Given the description of an element on the screen output the (x, y) to click on. 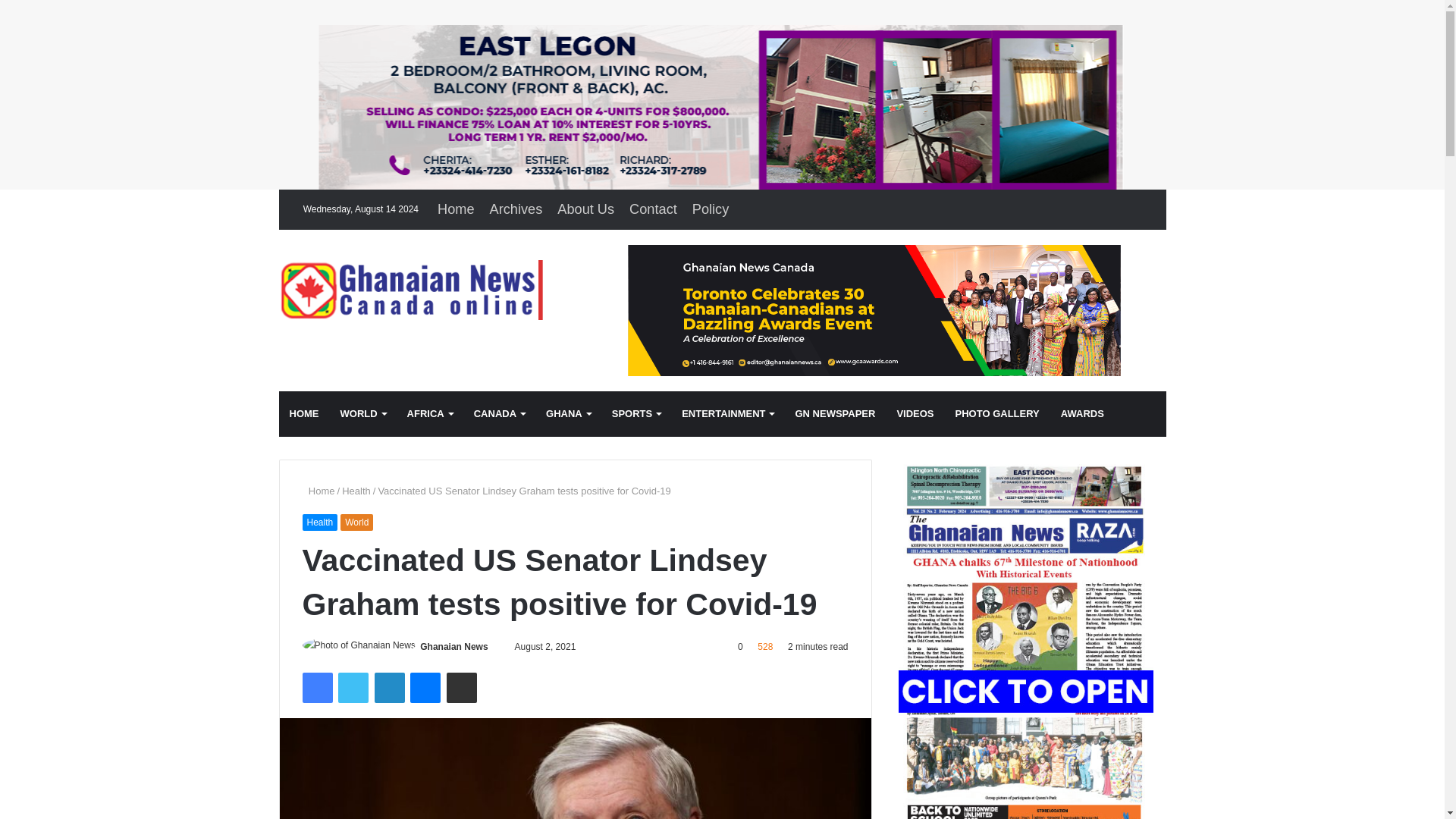
Facebook (316, 687)
About Us (585, 209)
PHOTO GALLERY (996, 413)
VIDEOS (914, 413)
HOME (304, 413)
WORLD (362, 413)
SPORTS (636, 413)
Ghanaian News (419, 290)
GHANA (568, 413)
Ghanaian News (453, 646)
